Given the description of an element on the screen output the (x, y) to click on. 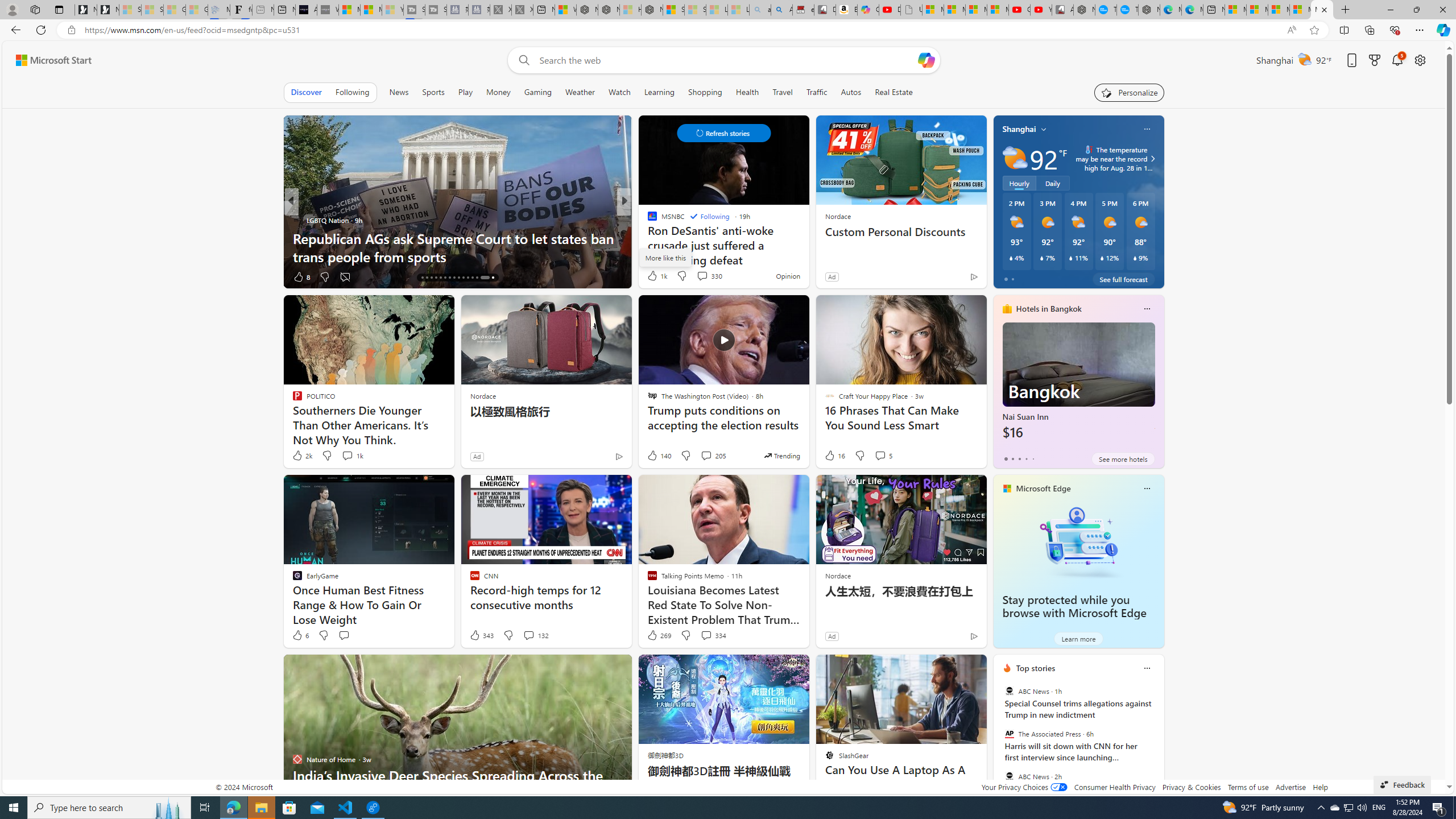
Your Privacy Choices (1024, 786)
Comments turned off for this story (344, 276)
